Given the description of an element on the screen output the (x, y) to click on. 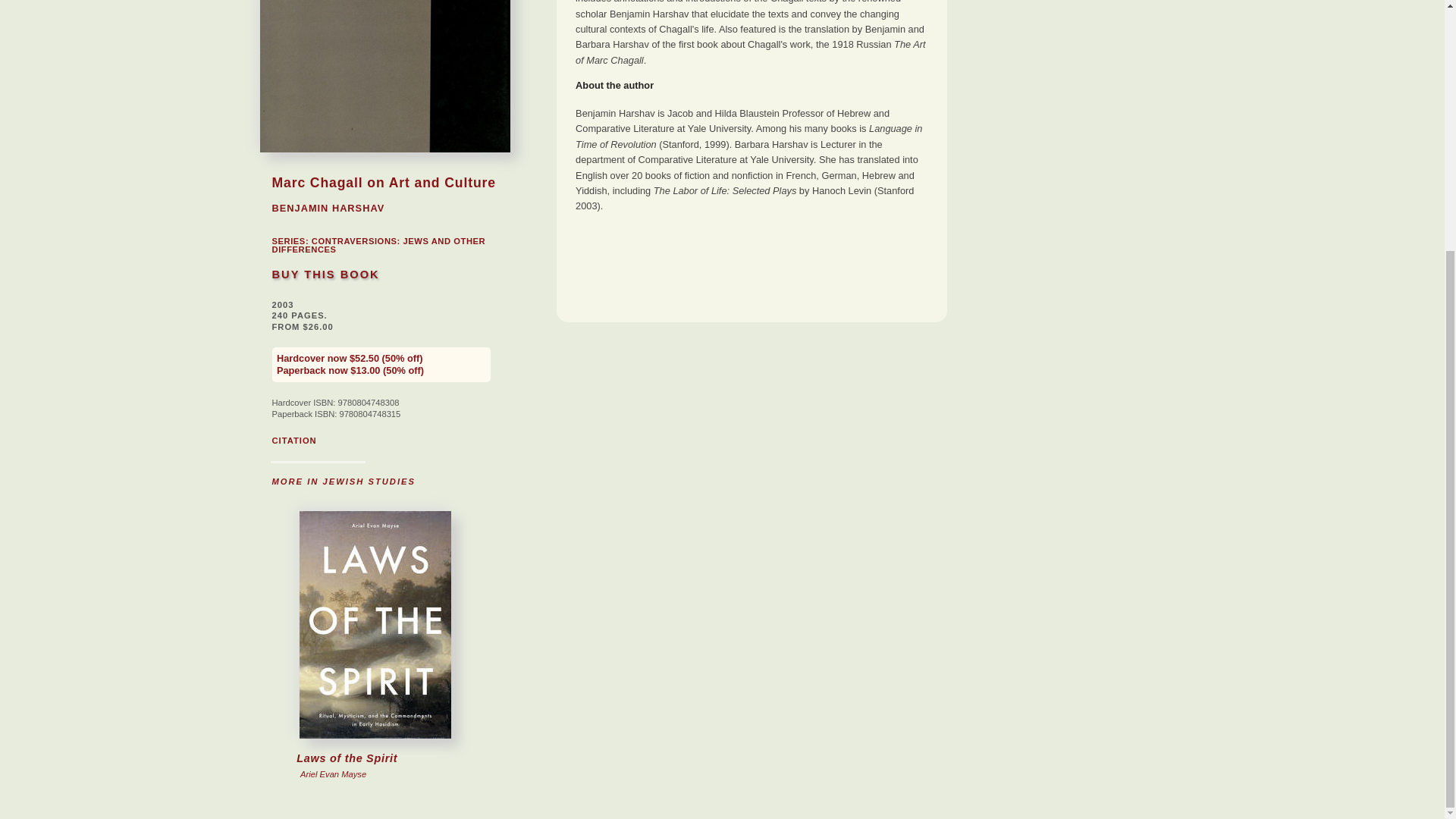
BUY THIS BOOK (324, 274)
CITATION (292, 440)
CONTRAVERSIONS: JEWS AND OTHER DIFFERENCES (377, 244)
MORE IN JEWISH STUDIES (342, 481)
